Given the description of an element on the screen output the (x, y) to click on. 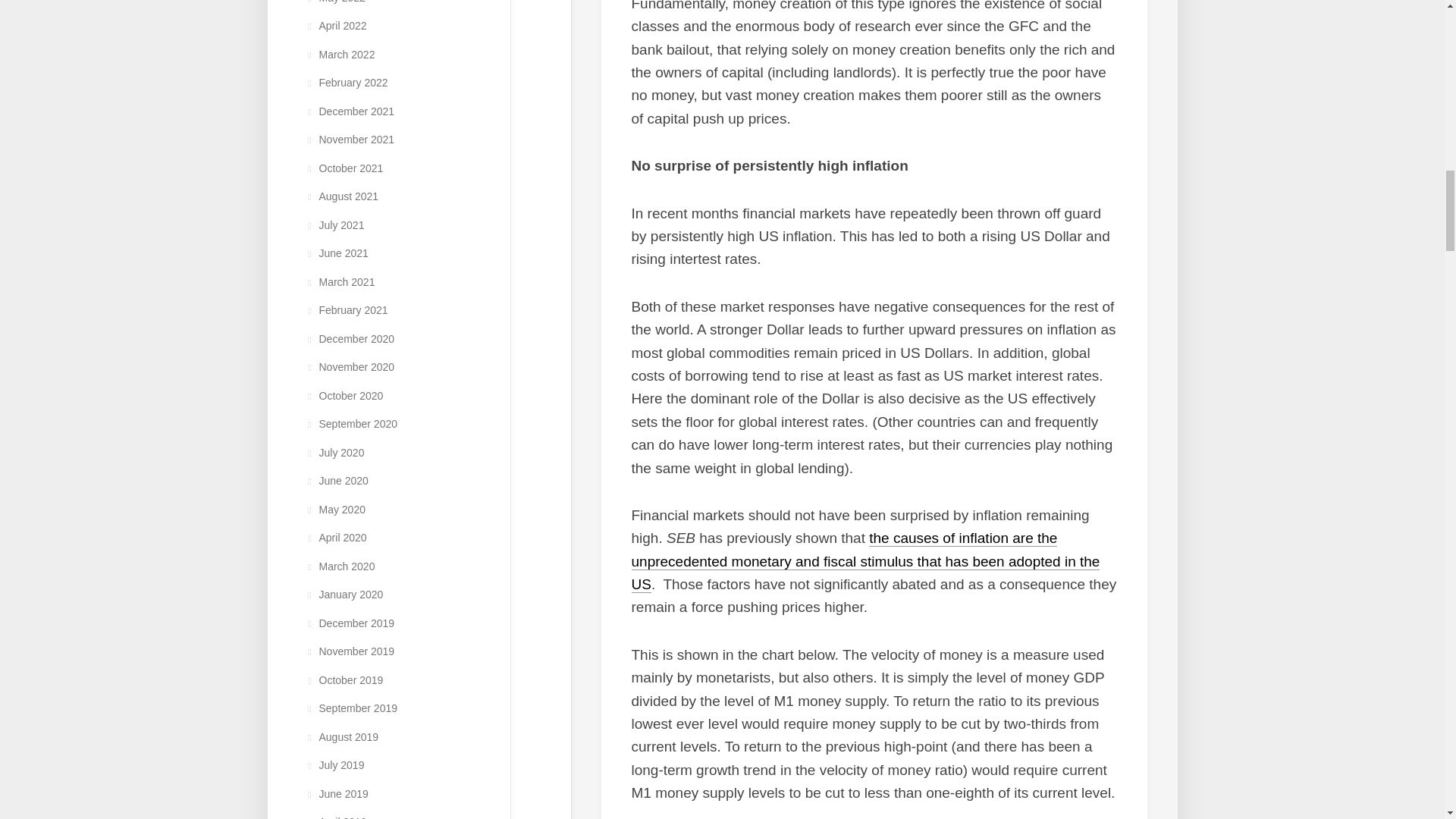
December 2021 (349, 111)
July 2021 (334, 224)
April 2022 (335, 25)
November 2021 (349, 139)
August 2021 (341, 196)
May 2022 (334, 2)
February 2022 (345, 82)
March 2022 (339, 54)
October 2021 (343, 168)
